Given the description of an element on the screen output the (x, y) to click on. 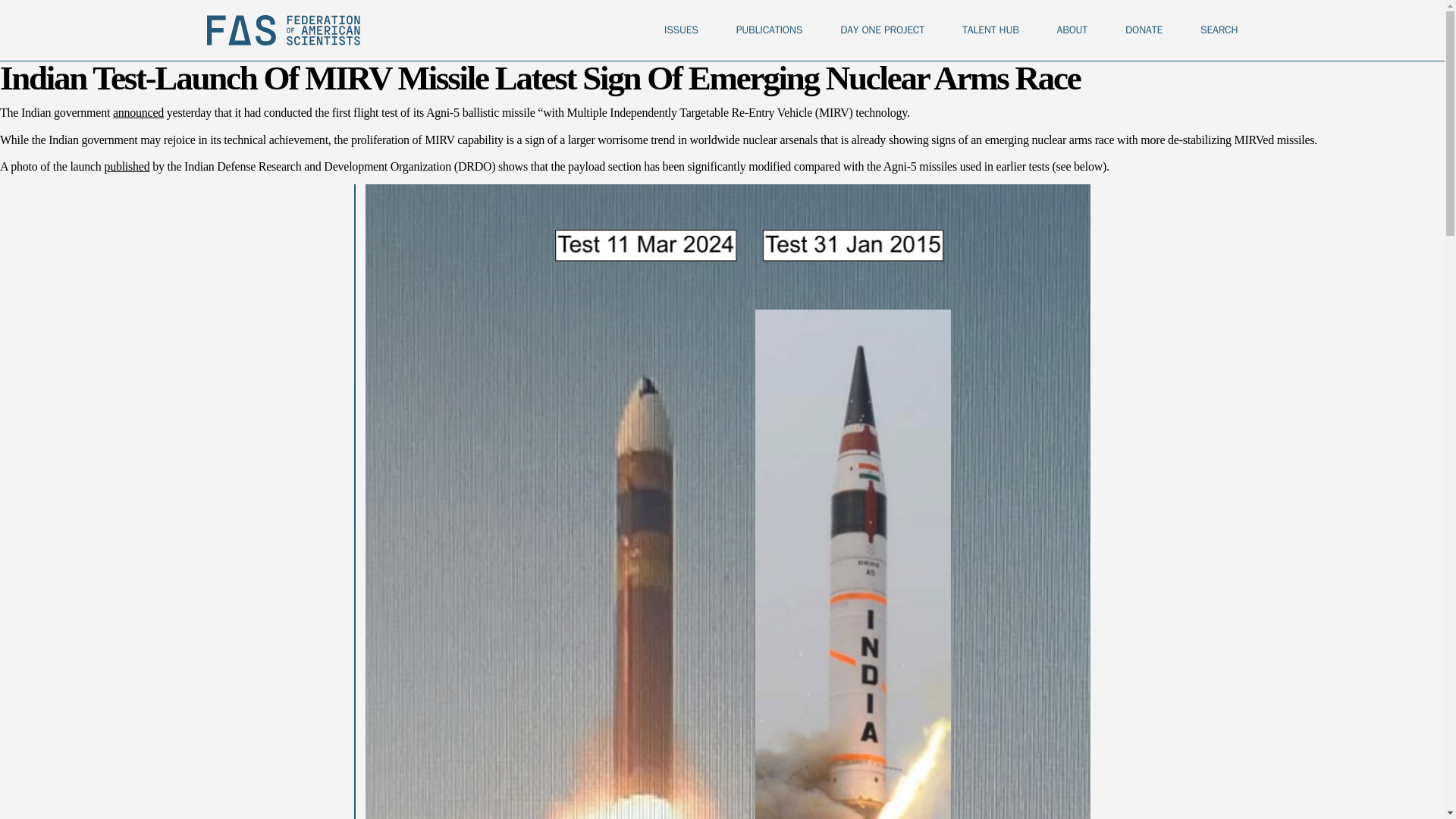
DONATE (1143, 29)
ISSUES (680, 29)
TALENT HUB (990, 29)
ABOUT (1072, 29)
SEARCH (1218, 29)
PUBLICATIONS (769, 29)
Federation of American Scientists (282, 30)
DAY ONE PROJECT (882, 29)
